Given the description of an element on the screen output the (x, y) to click on. 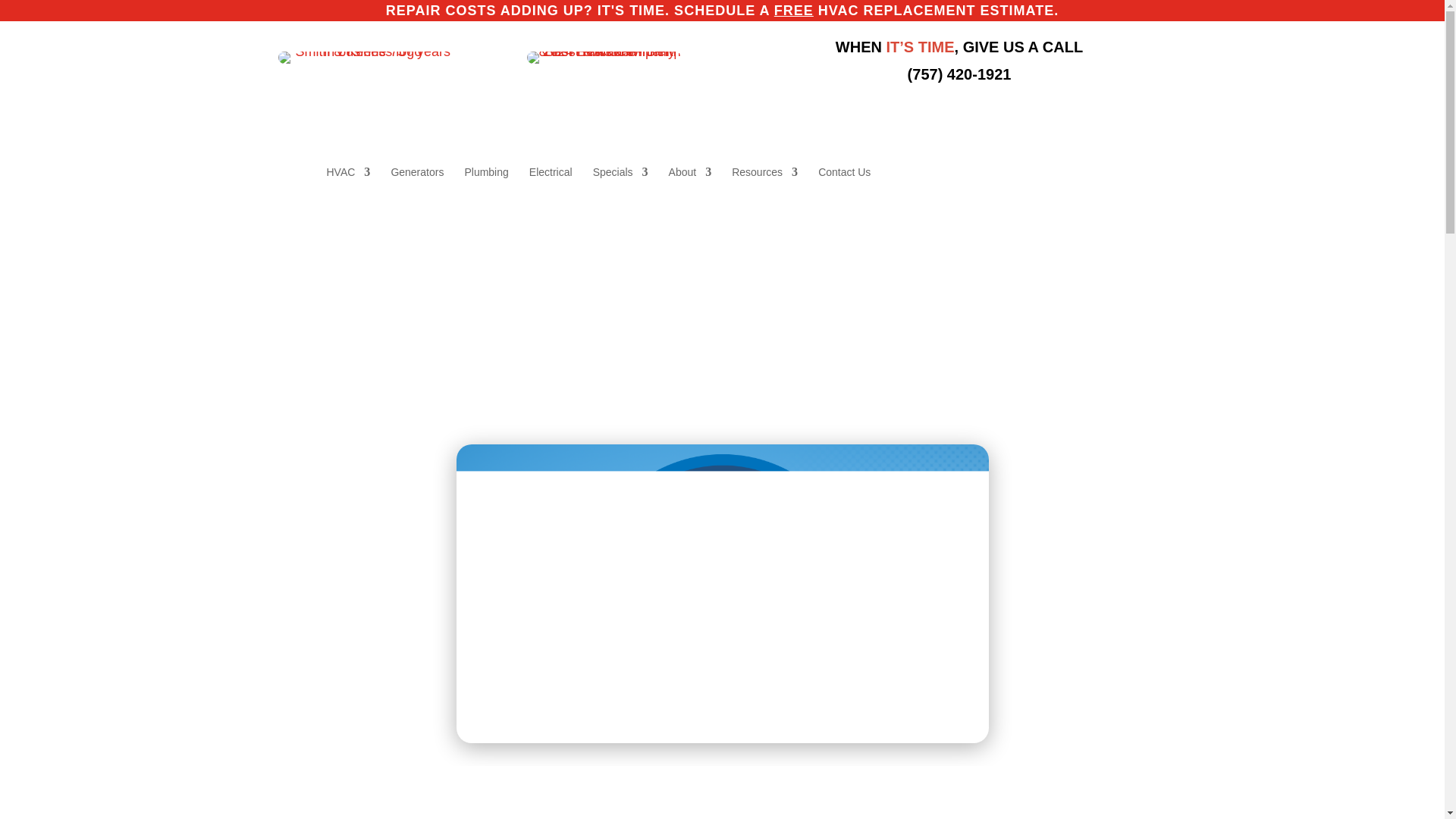
Electrical (550, 183)
Generators (417, 183)
HVAC (347, 183)
Specials (619, 183)
Contact Us (844, 183)
About (689, 183)
WINNER-1024x1024 (604, 57)
Resources (764, 183)
Plumbing (486, 183)
